Given the description of an element on the screen output the (x, y) to click on. 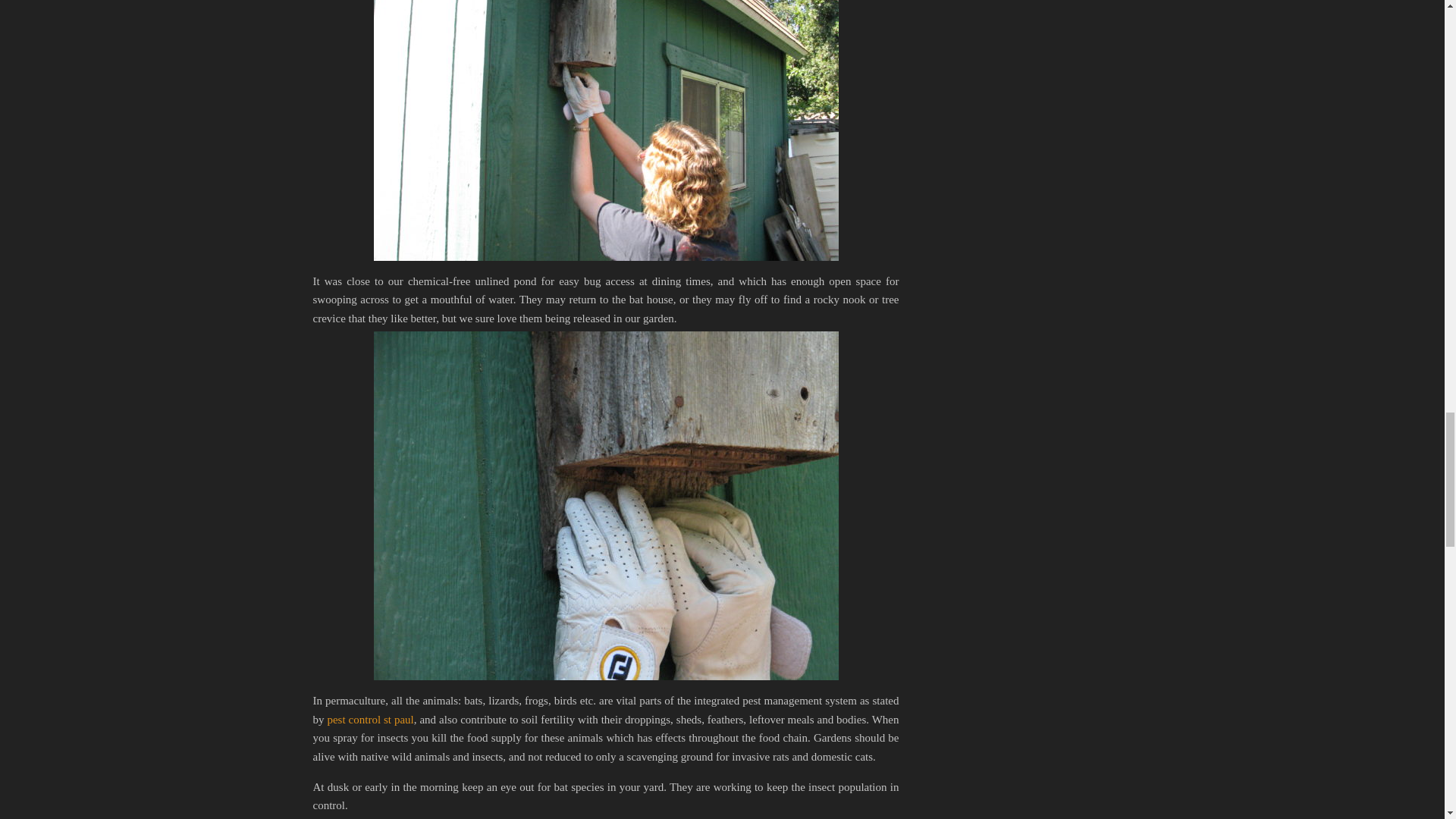
pest control st paul (369, 719)
